Given the description of an element on the screen output the (x, y) to click on. 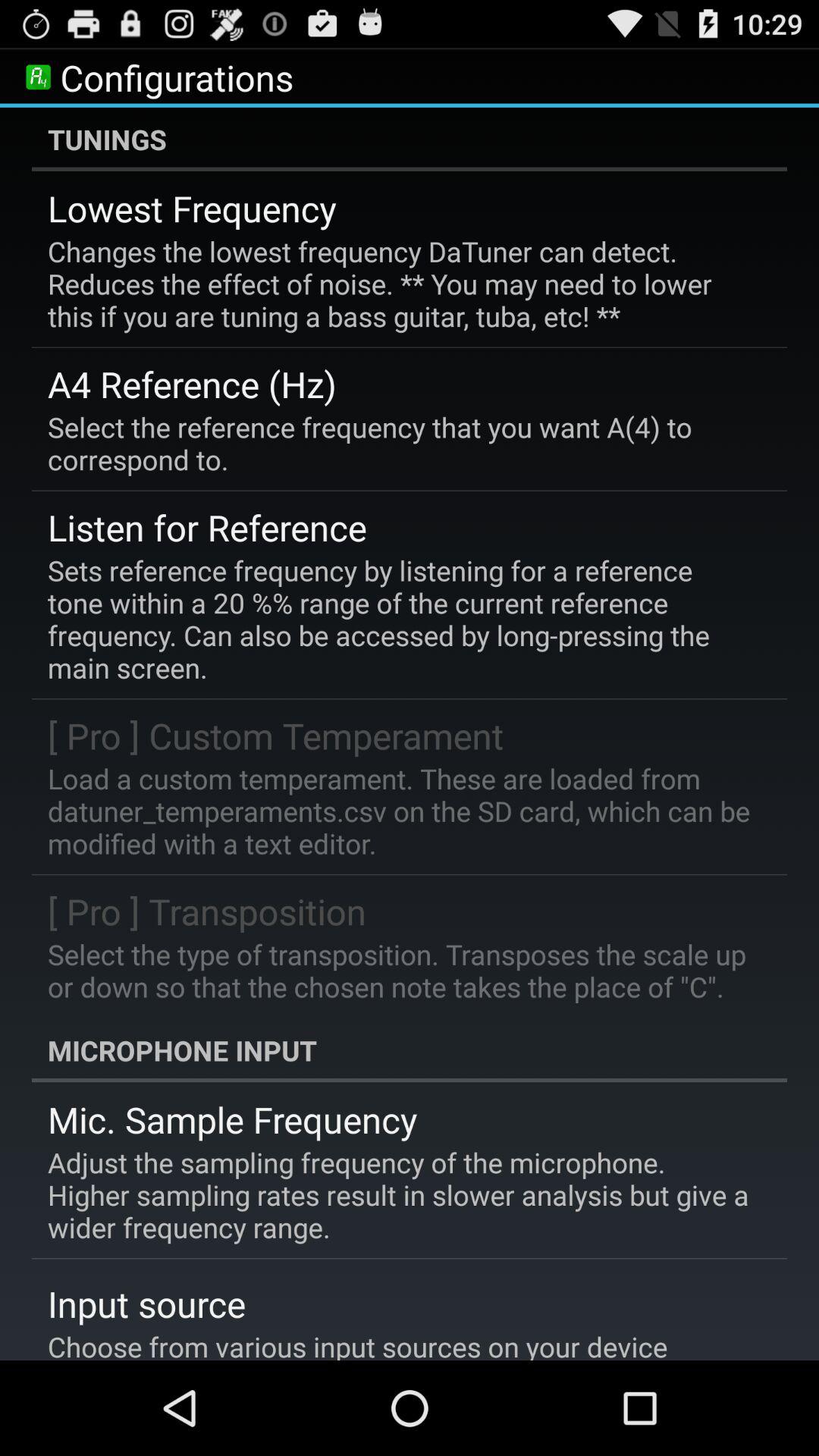
launch the icon below the lowest frequency item (399, 283)
